Given the description of an element on the screen output the (x, y) to click on. 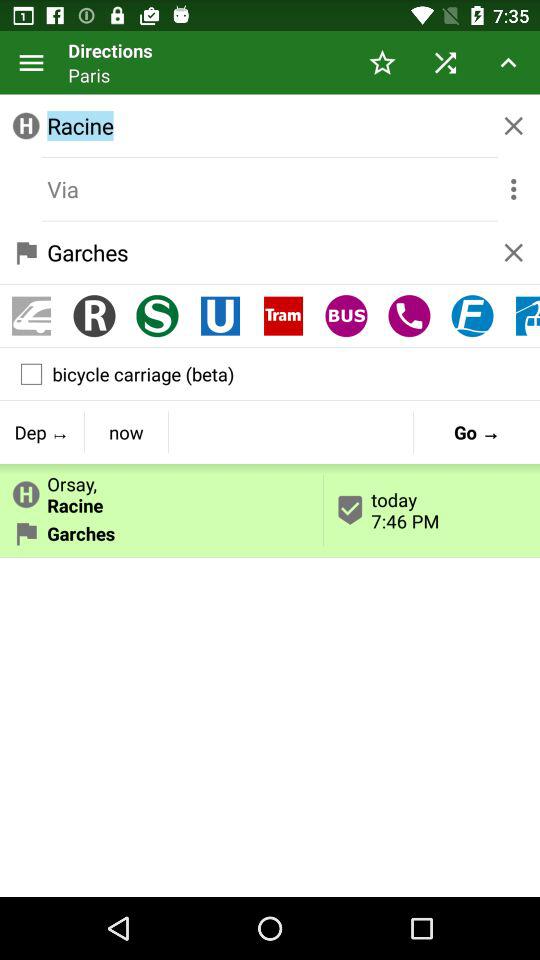
turn on the item to the right of orsay,
racine icon (476, 431)
